Given the description of an element on the screen output the (x, y) to click on. 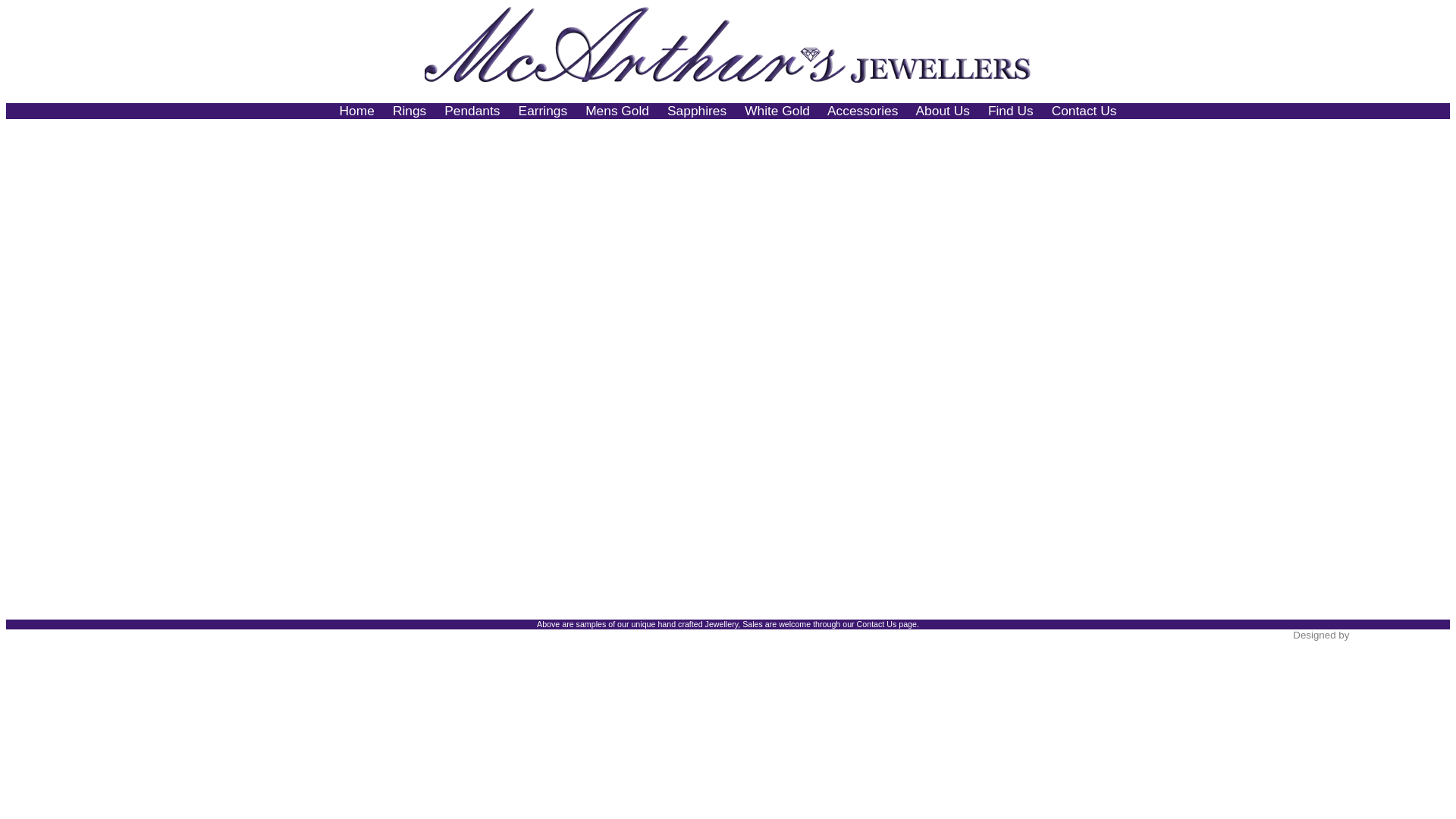
White Gold Element type: text (776, 110)
Contact Us Element type: text (1084, 110)
Mens Gold Element type: text (617, 110)
Sapphires Element type: text (696, 110)
Home Element type: text (358, 110)
Pendants Element type: text (471, 110)
Earrings Element type: text (542, 110)
Find Us Element type: text (1010, 110)
Accessories Element type: text (862, 110)
About Us Element type: text (942, 110)
Rings Element type: text (409, 110)
www.janelle-lane.com Element type: text (1400, 634)
